Given the description of an element on the screen output the (x, y) to click on. 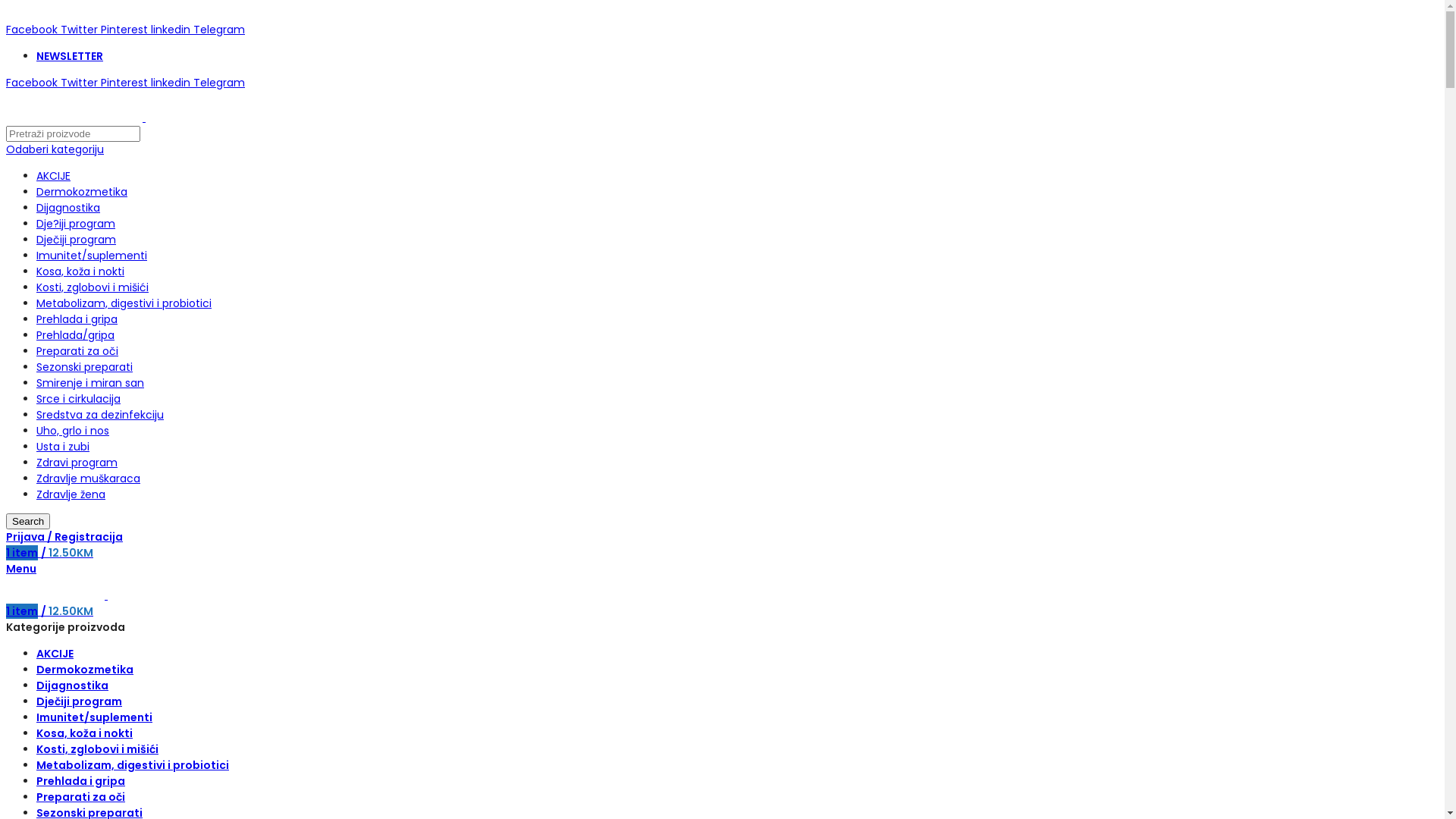
Smirenje i miran san Element type: text (90, 382)
AKCIJE Element type: text (53, 175)
Facebook Element type: text (33, 82)
Dermokozmetika Element type: text (84, 669)
Menu Element type: text (21, 568)
linkedin Element type: text (171, 29)
Imunitet/suplementi Element type: text (94, 716)
Sredstva za dezinfekciju Element type: text (99, 414)
Odaberi kategoriju Element type: text (54, 148)
Usta i zubi Element type: text (62, 446)
1 item / 12.50KM Element type: text (49, 610)
Uho, grlo i nos Element type: text (72, 430)
AKCIJE Element type: text (54, 653)
Telegram Element type: text (218, 82)
Pinterest Element type: text (125, 82)
Prijava / Registracija Element type: text (64, 536)
Dijagnostika Element type: text (68, 207)
Imunitet/suplementi Element type: text (91, 255)
Sezonski preparati Element type: text (84, 366)
Dermokozmetika Element type: text (81, 191)
Dje?iji program Element type: text (75, 223)
Twitter Element type: text (80, 82)
Twitter Element type: text (80, 29)
Dijagnostika Element type: text (72, 685)
Metabolizam, digestivi i probiotici Element type: text (132, 764)
Prehlada i gripa Element type: text (76, 318)
Telegram Element type: text (218, 29)
Metabolizam, digestivi i probiotici Element type: text (123, 302)
Search Element type: text (28, 521)
Srce i cirkulacija Element type: text (78, 398)
Prehlada i gripa Element type: text (80, 780)
1 item / 12.50KM Element type: text (49, 552)
linkedin Element type: text (171, 82)
Pinterest Element type: text (125, 29)
NEWSLETTER Element type: text (69, 55)
Facebook Element type: text (33, 29)
Zdravi program Element type: text (76, 462)
Prehlada/gripa Element type: text (75, 334)
